Given the description of an element on the screen output the (x, y) to click on. 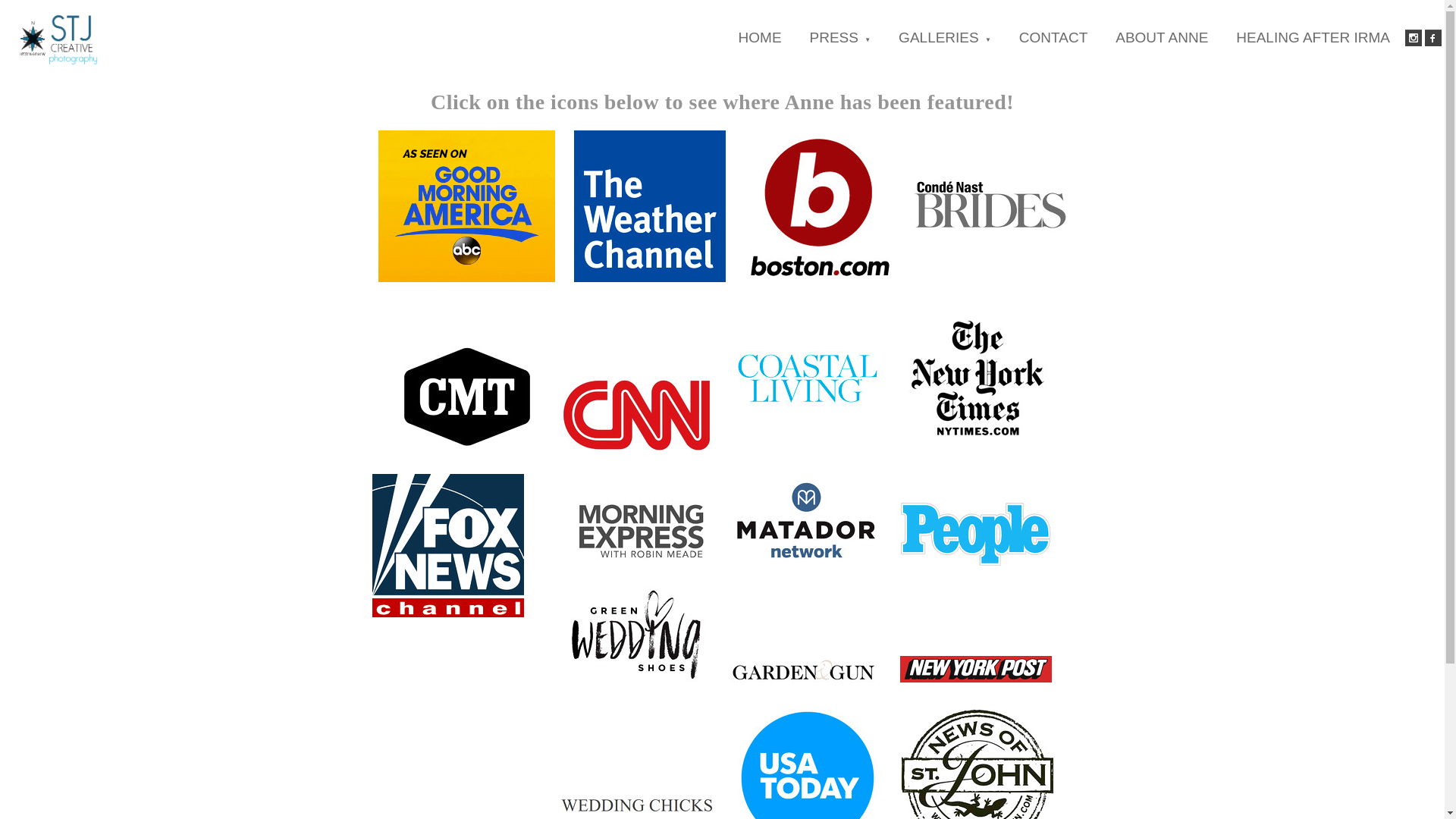
HEALING AFTER IRMA (1313, 37)
HOME (759, 37)
CONTACT (1053, 37)
ABOUT ANNE (1161, 37)
Anne Bequette of STJ Creative Photography (58, 38)
